Given the description of an element on the screen output the (x, y) to click on. 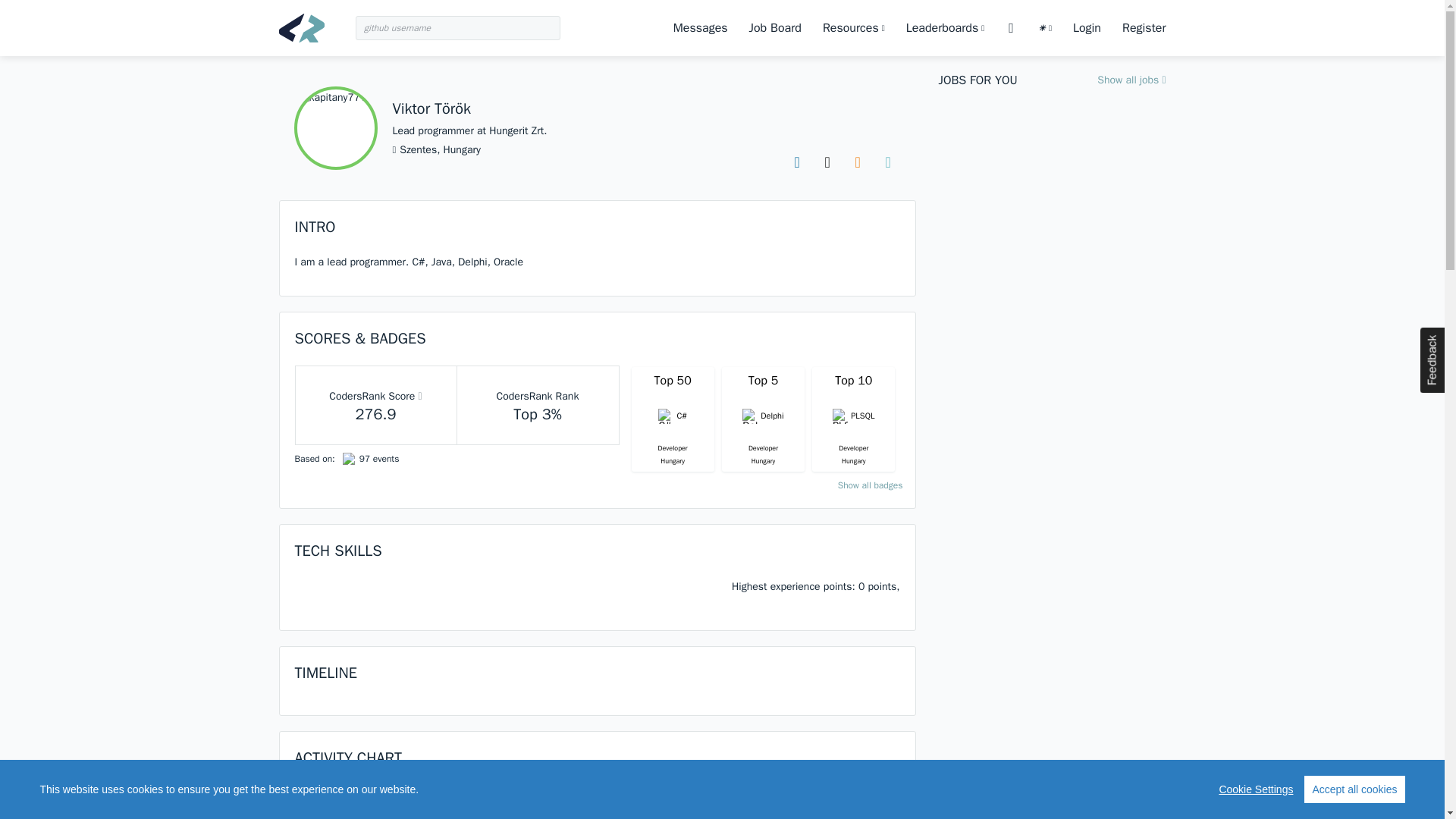
Register (1144, 27)
Show all badges (870, 485)
kapitany777 (335, 127)
Job Board (775, 27)
ACTIVITY CHART (347, 757)
TECH SKILLS (337, 550)
TIMELINE (325, 672)
Login (1086, 27)
INTRO (314, 226)
Messages (700, 27)
